Given the description of an element on the screen output the (x, y) to click on. 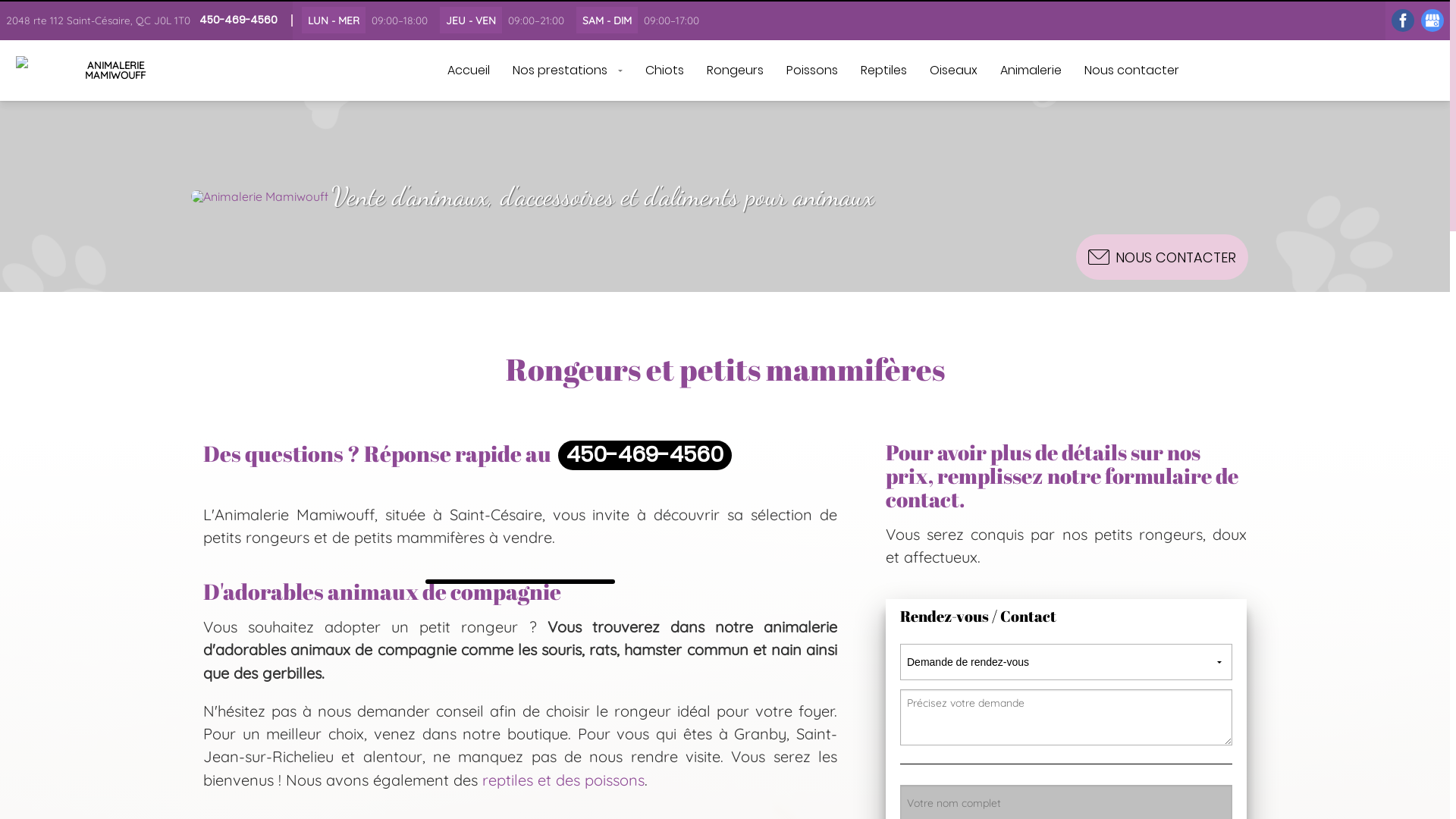
450-469-4560 Element type: text (238, 19)
NOUS CONTACTER Element type: text (1161, 256)
reptiles et des poissons Element type: text (563, 779)
Animalerie Element type: text (1030, 70)
ANIMALERIE MAMIWOUFF Element type: text (94, 70)
Vente d'animaux, d'accessoires et d'aliments pour animaux Element type: text (532, 196)
Facebook Element type: hover (1402, 20)
Accueil Element type: text (467, 70)
Chiots Element type: text (664, 70)
Poissons Element type: text (812, 70)
Reptiles Element type: text (883, 70)
Nous contacter Element type: text (1130, 70)
Oiseaux Element type: text (952, 70)
Rongeurs Element type: text (734, 70)
450-469-4560 Element type: text (644, 454)
Mybusiness Element type: hover (1432, 20)
Nos prestations Element type: text (566, 70)
